Given the description of an element on the screen output the (x, y) to click on. 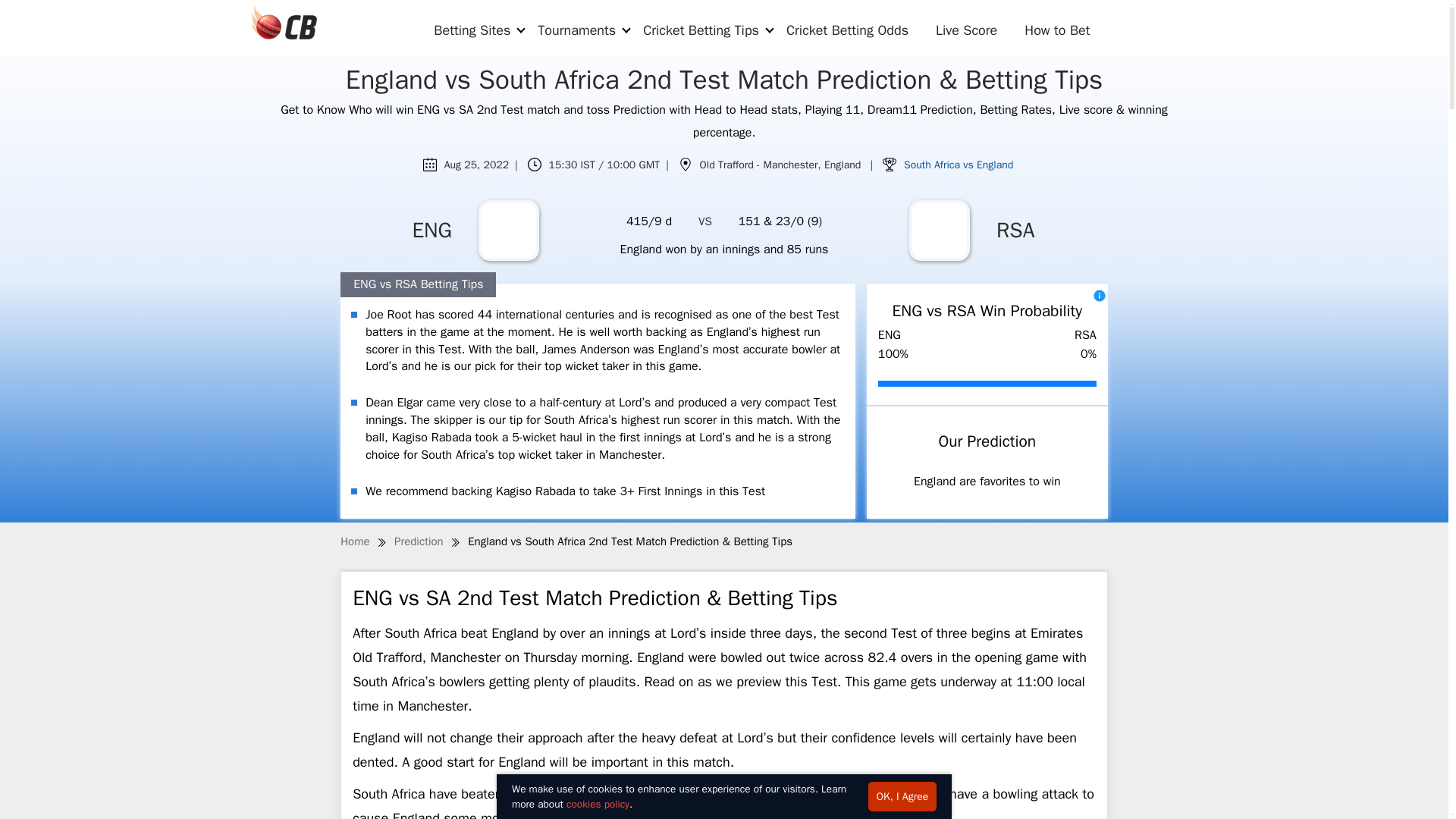
How to Bet (1056, 30)
Stadium Name (685, 164)
Cricket Betting Odds (847, 30)
South Africa vs England (958, 164)
England (508, 230)
Tournaments (576, 30)
Start Time (534, 164)
Winner (889, 164)
South Africa (938, 230)
Betting Sites (472, 30)
Prediction (419, 540)
Cricket Betting Tips (700, 30)
Home (354, 540)
Live Score (965, 30)
date (429, 164)
